Given the description of an element on the screen output the (x, y) to click on. 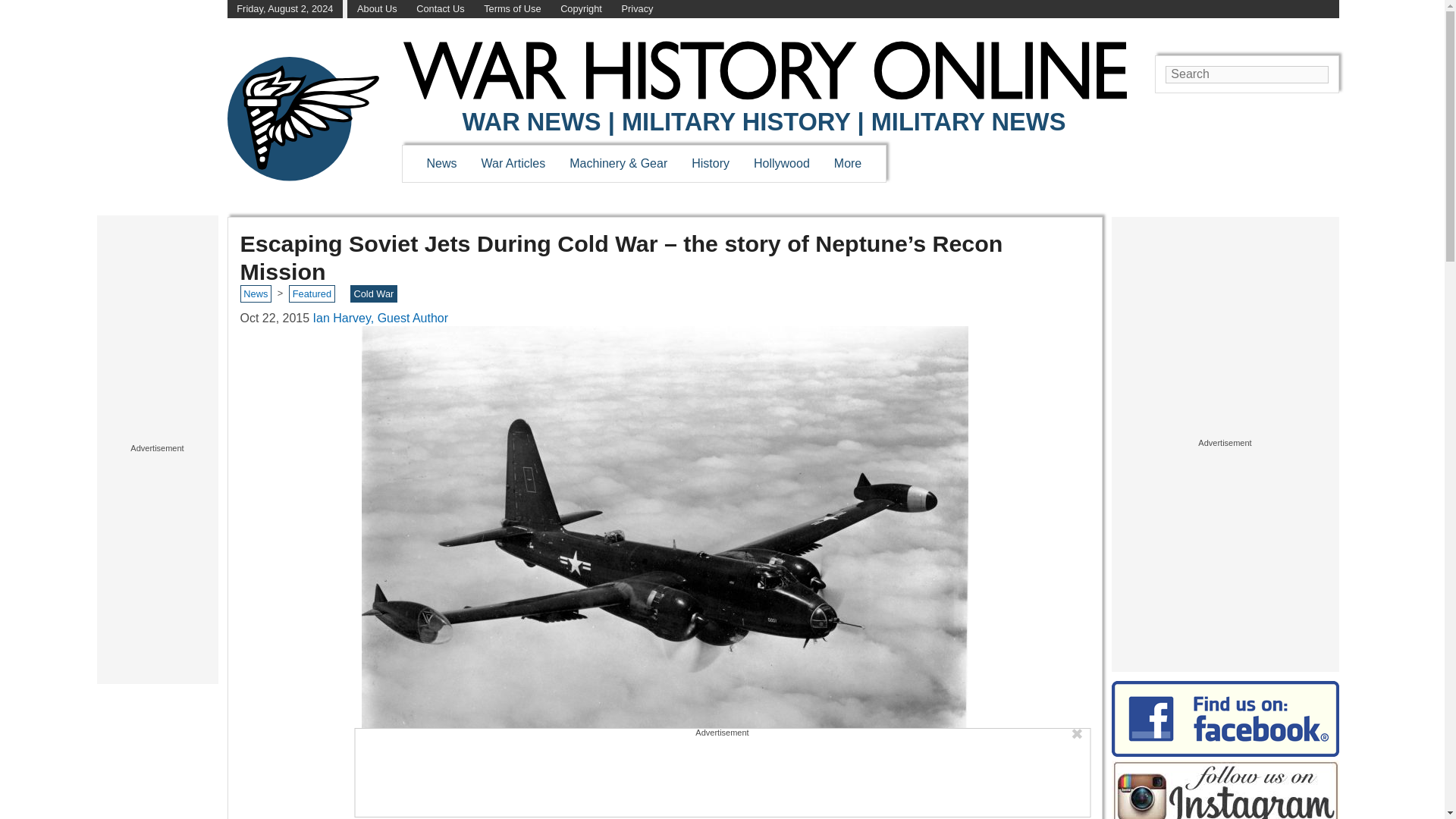
Copyright (581, 8)
History (710, 163)
War Articles (513, 163)
Contact Us (440, 8)
Privacy (637, 8)
More (847, 163)
Terms of Use (511, 8)
About Us (376, 8)
Hollywood (781, 163)
News (441, 163)
